Given the description of an element on the screen output the (x, y) to click on. 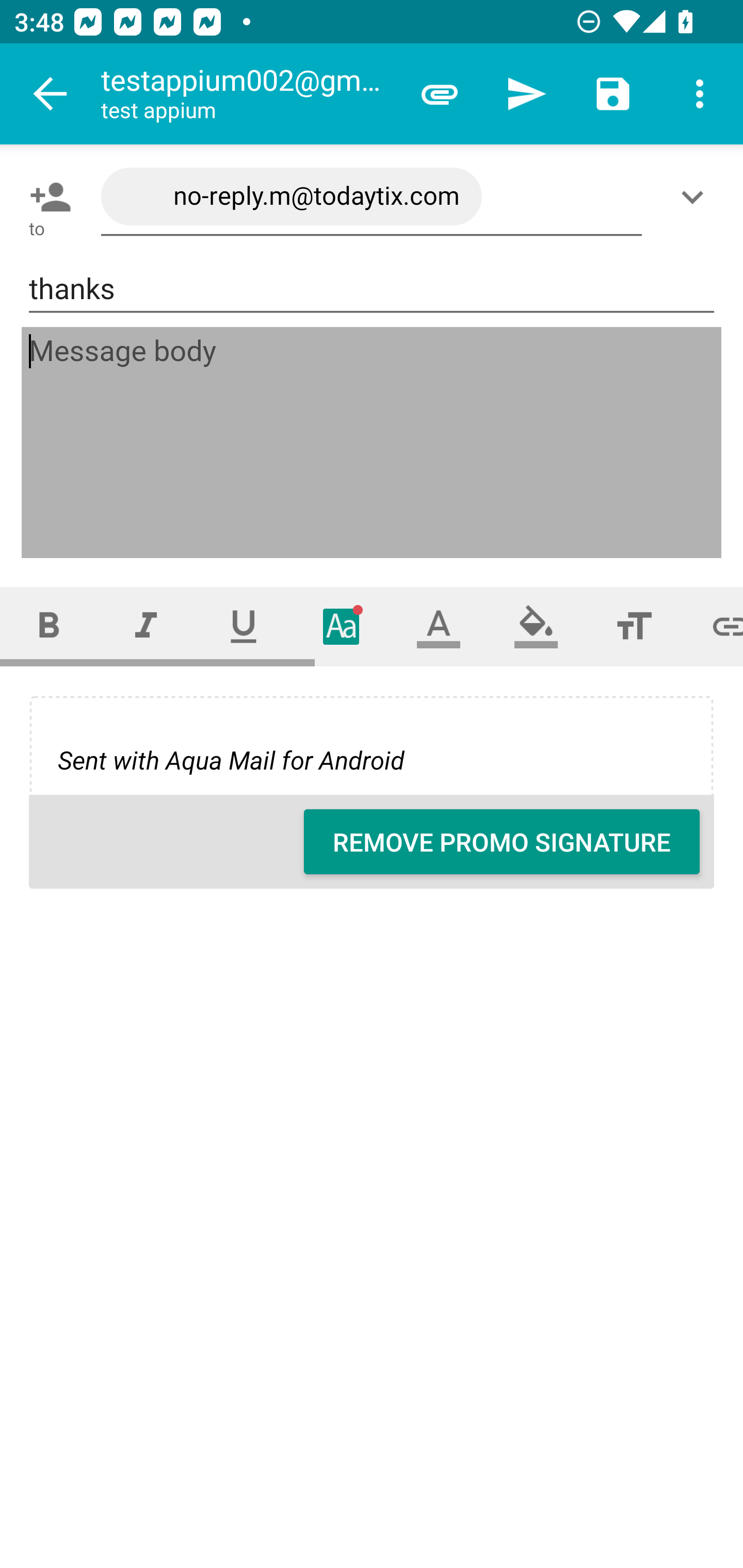
Navigate up (50, 93)
testappium002@gmail.com test appium (248, 93)
Attach (439, 93)
Send (525, 93)
Save (612, 93)
More options (699, 93)
no-reply.m@todaytix.com,  (371, 197)
Pick contact: To (46, 196)
Show/Add CC/BCC (696, 196)
thanks (371, 288)
Message body (372, 442)
Bold (48, 626)
Italic (145, 626)
Underline (243, 626)
Typeface (font) (341, 626)
Text color (438, 626)
Fill color (536, 626)
Font size (633, 626)
REMOVE PROMO SIGNATURE (501, 841)
